Given the description of an element on the screen output the (x, y) to click on. 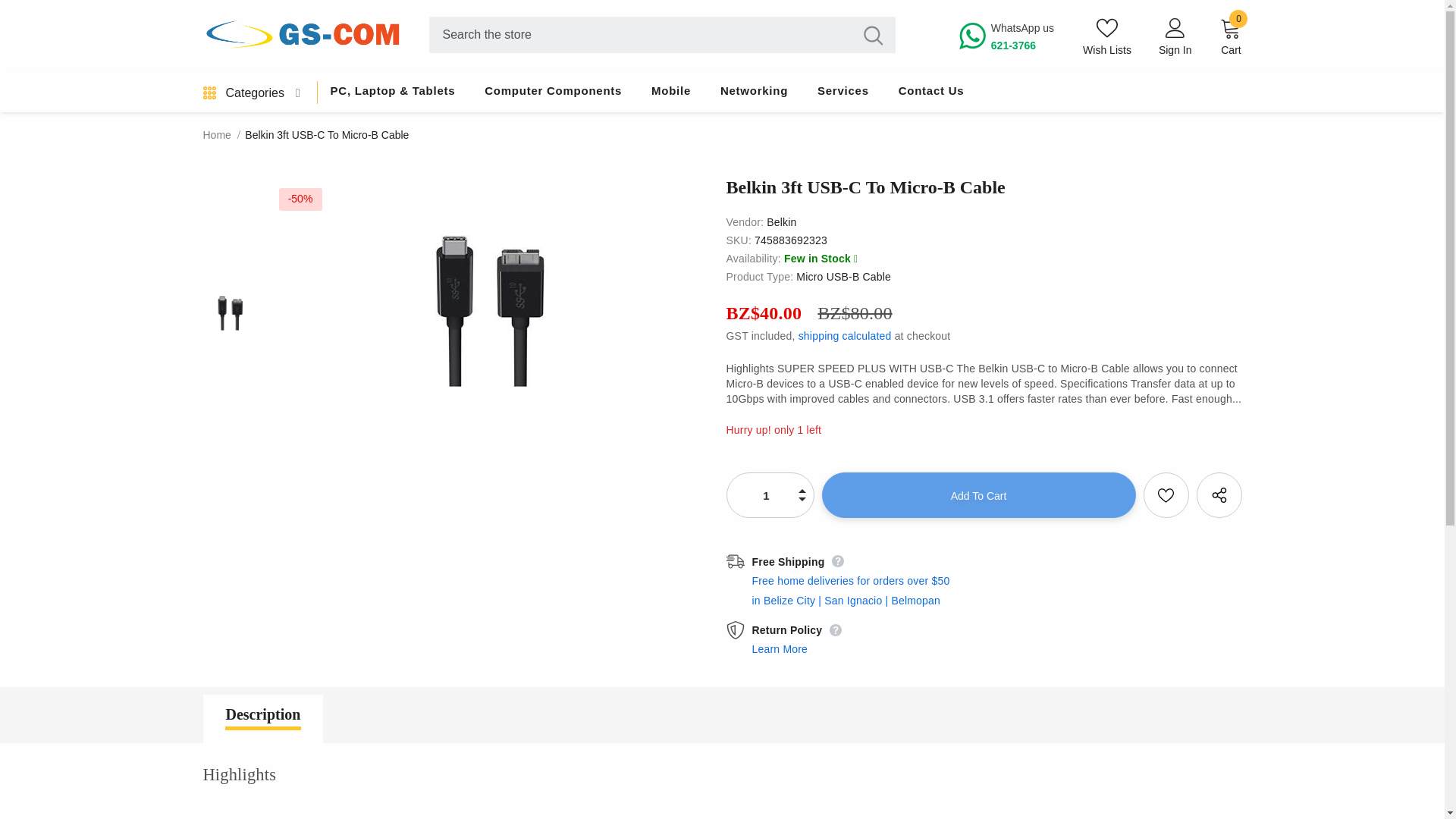
Wish Lists (1107, 36)
Logo (304, 34)
1 (1019, 35)
Sign In (766, 494)
Add to cart (1175, 50)
